Given the description of an element on the screen output the (x, y) to click on. 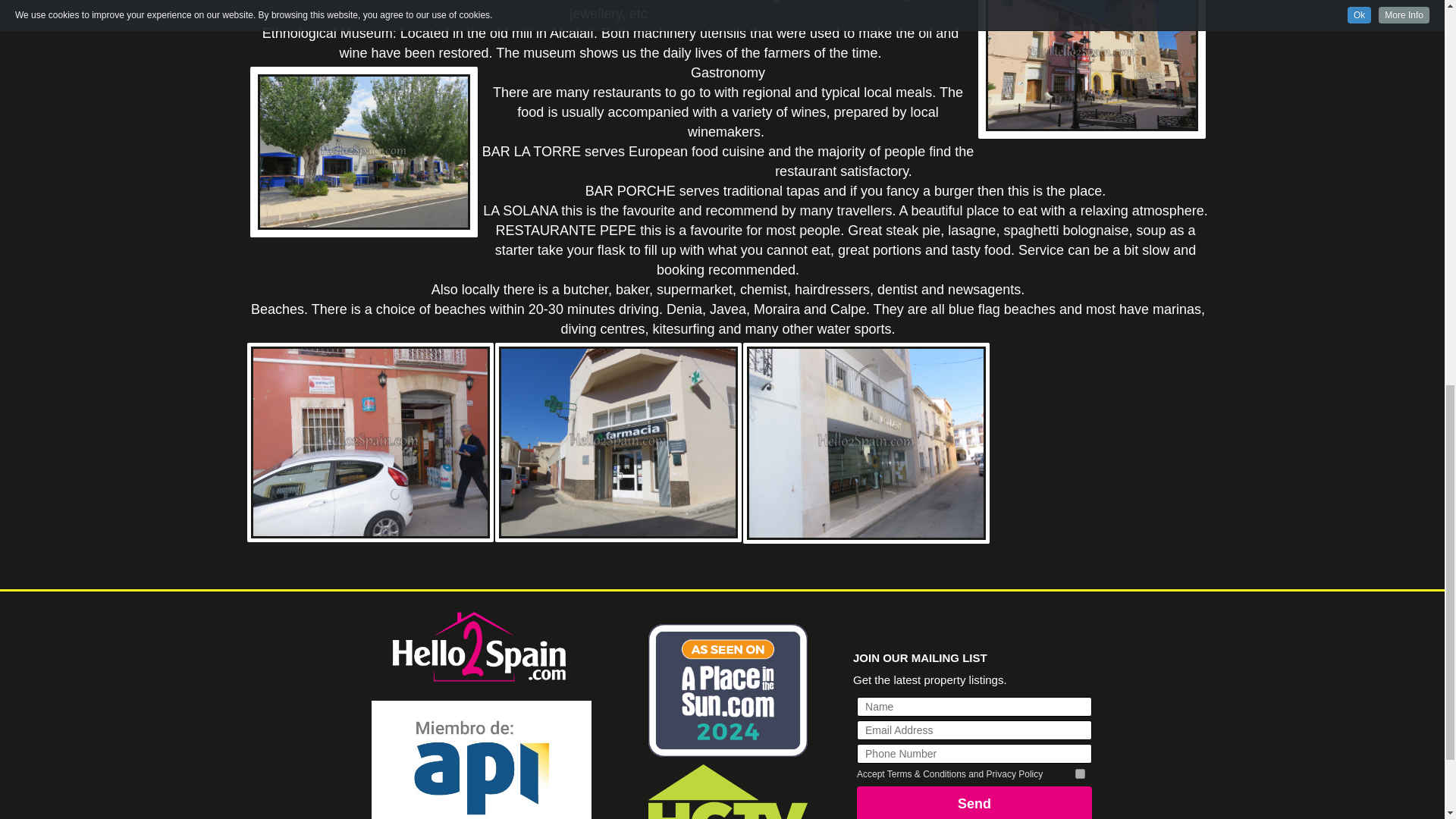
A Place in The Sun - Hello2Spain (727, 690)
1 (1080, 773)
Hello2Spain Miembro de API (481, 760)
Hello2Spain (481, 648)
HGTV - Hello2Spain (727, 791)
